Given the description of an element on the screen output the (x, y) to click on. 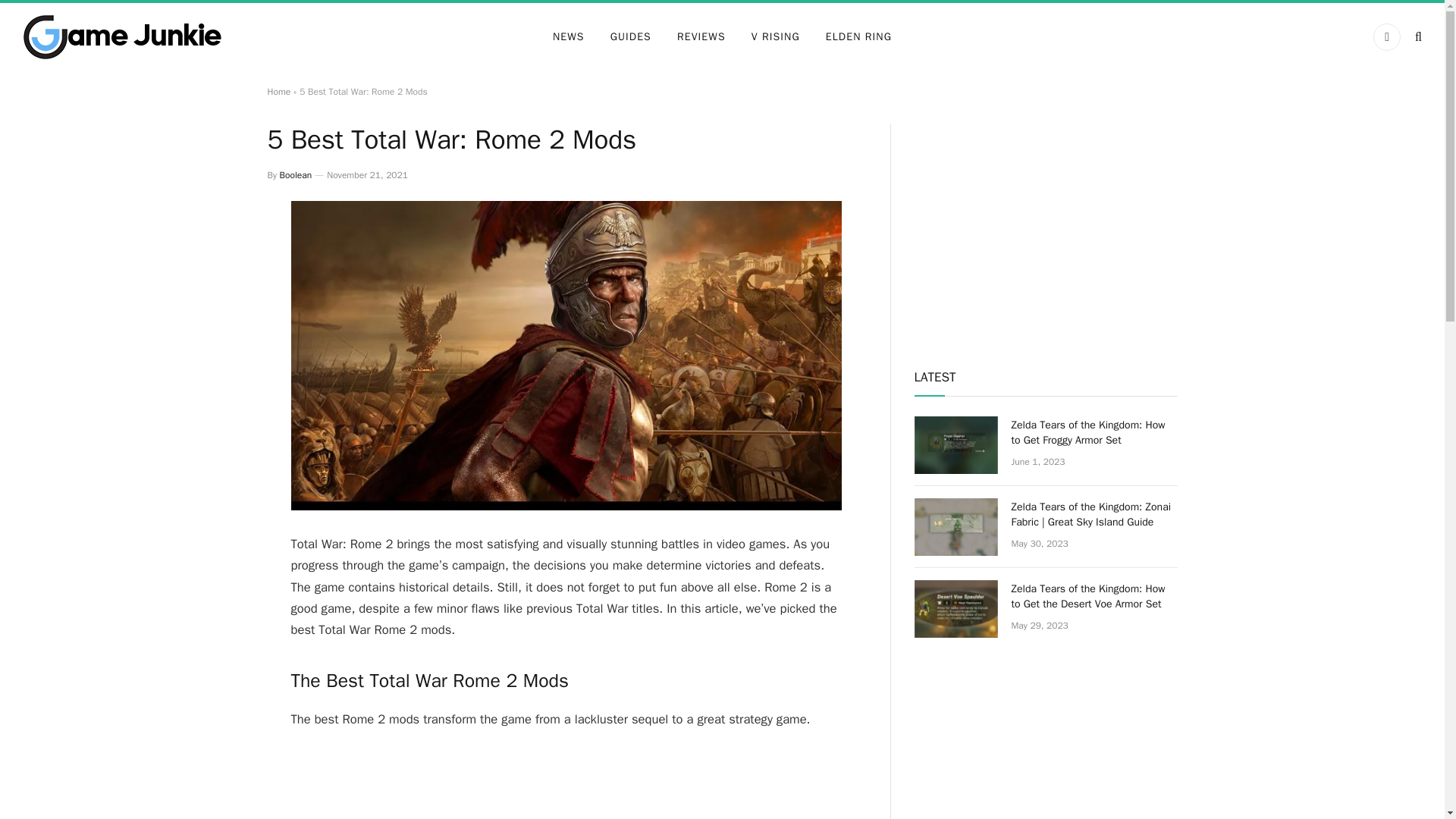
ELDEN RING (858, 37)
Posts by Boolean (296, 174)
NEWS (568, 37)
Advertisement (1045, 229)
GUIDES (629, 37)
Search (1417, 36)
V RISING (775, 37)
REVIEWS (700, 37)
Zelda Tears of the Kingdom: How to Get Froggy Armor Set (1094, 432)
Home (277, 91)
Boolean (296, 174)
Twitter (1386, 36)
Zelda Tears of the Kingdom: How to Get Froggy Armor Set (955, 445)
Advertisement (566, 789)
